Given the description of an element on the screen output the (x, y) to click on. 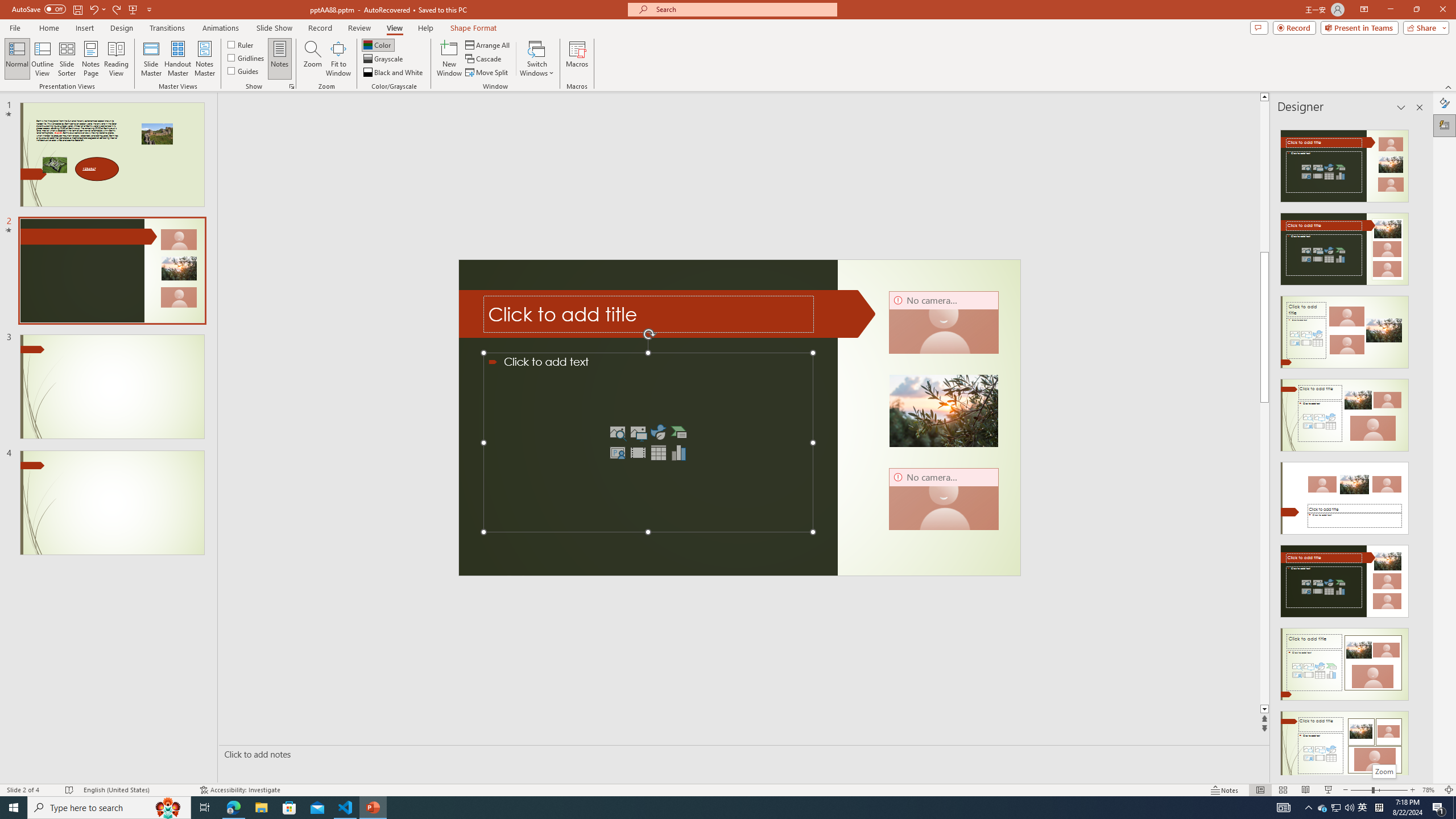
New Window (449, 58)
Handout Master (177, 58)
Camera 7, No camera detected. (943, 322)
Arrange All (488, 44)
